Given the description of an element on the screen output the (x, y) to click on. 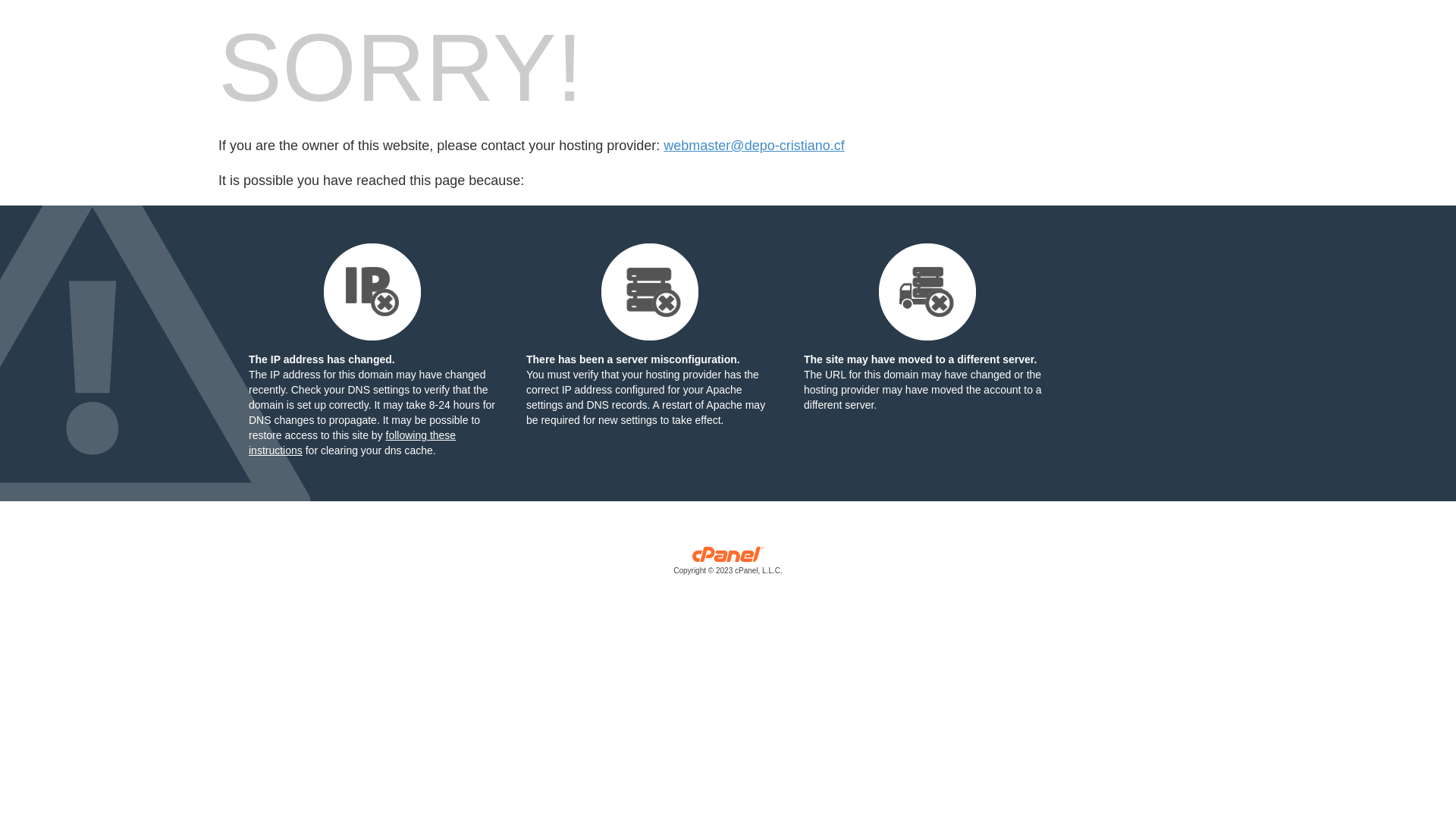
following these instructions Element type: text (351, 442)
webmaster@depo-cristiano.cf Element type: text (753, 145)
